Given the description of an element on the screen output the (x, y) to click on. 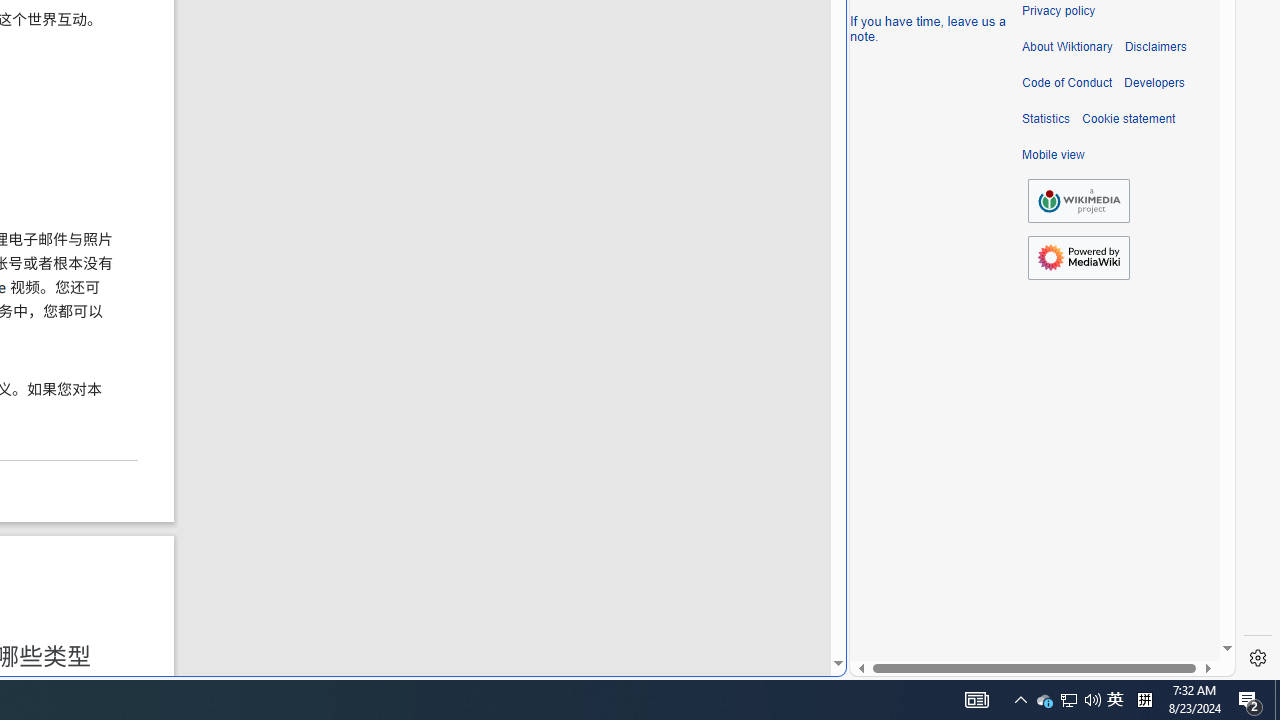
AutomationID: footer-copyrightico (1078, 200)
Disclaimers (1154, 47)
Powered by MediaWiki (1078, 257)
Statistics (1046, 119)
If you have time, leave us a note. (927, 27)
Disclaimers (1154, 47)
